Given the description of an element on the screen output the (x, y) to click on. 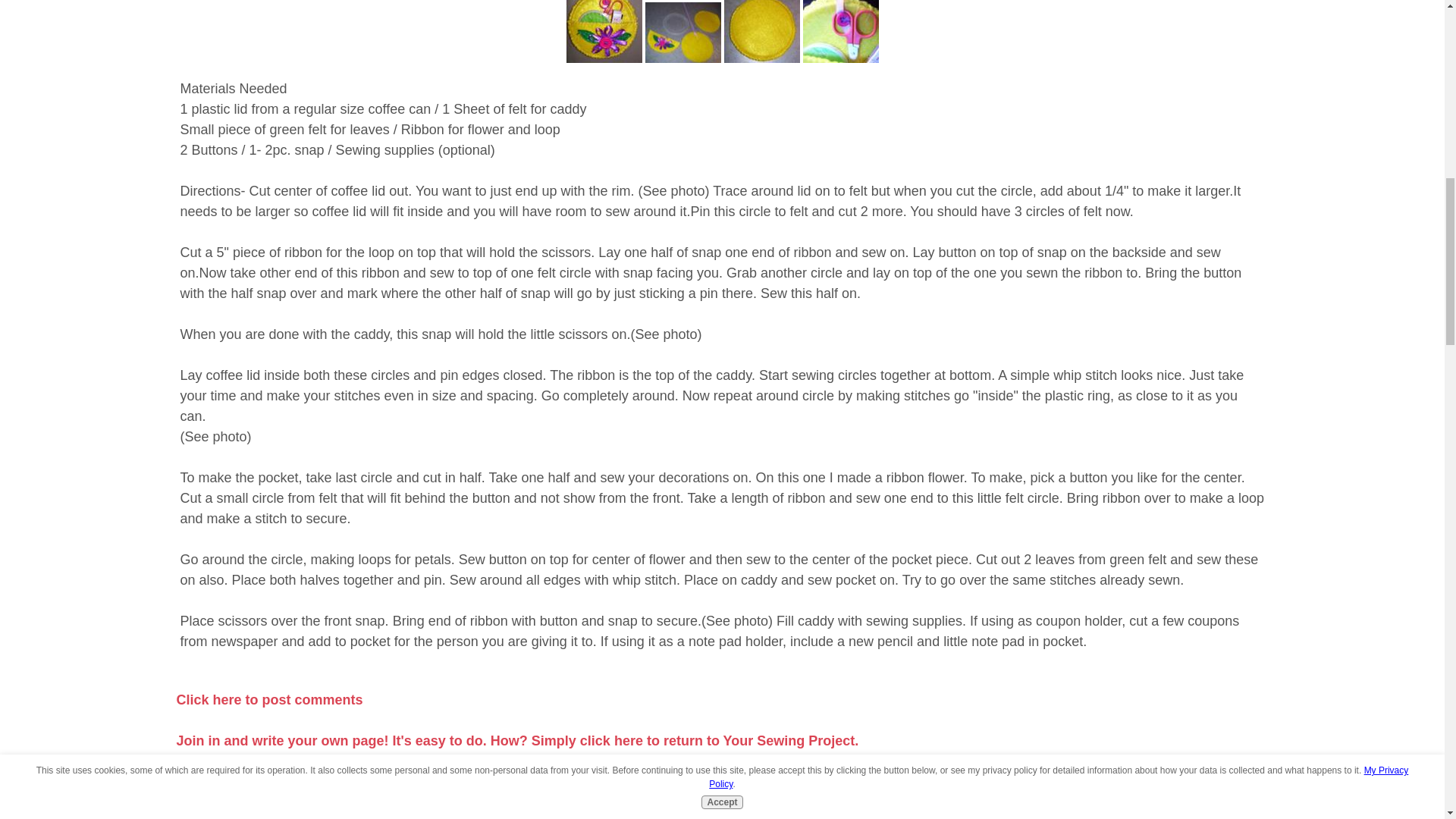
Pieces (682, 32)
Scissor Placement (839, 31)
Lid Enclosed (761, 31)
Finsihed Caddy (604, 31)
Click here to post comments (269, 699)
